Given the description of an element on the screen output the (x, y) to click on. 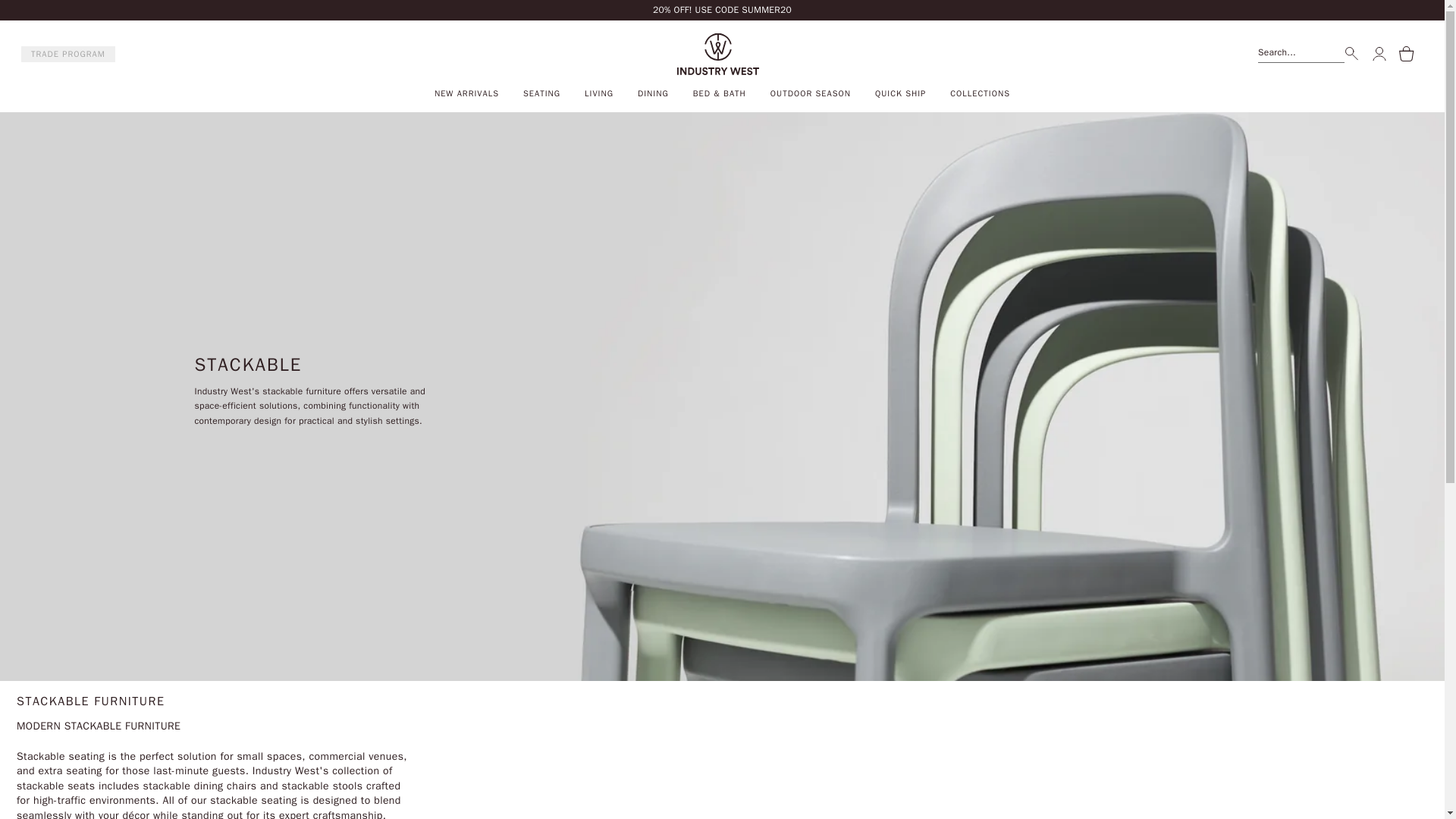
NEW ARRIVALS (466, 92)
COLLECTIONS (980, 92)
OUTDOOR SEASON (810, 92)
TRADE PROGRAM (68, 54)
SEATING (541, 92)
LIVING (598, 92)
DINING (652, 92)
QUICK SHIP (900, 92)
